Given the description of an element on the screen output the (x, y) to click on. 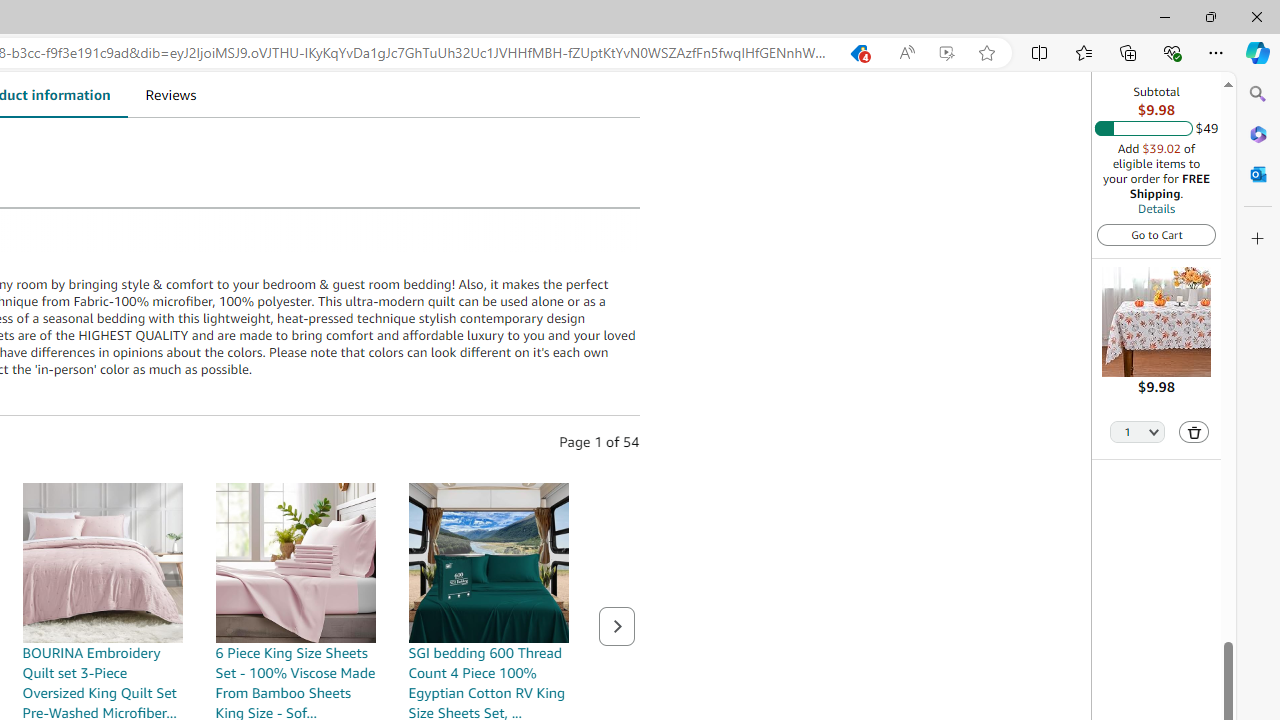
Next page of related Sponsored Products (615, 625)
Reviews (169, 94)
